Given the description of an element on the screen output the (x, y) to click on. 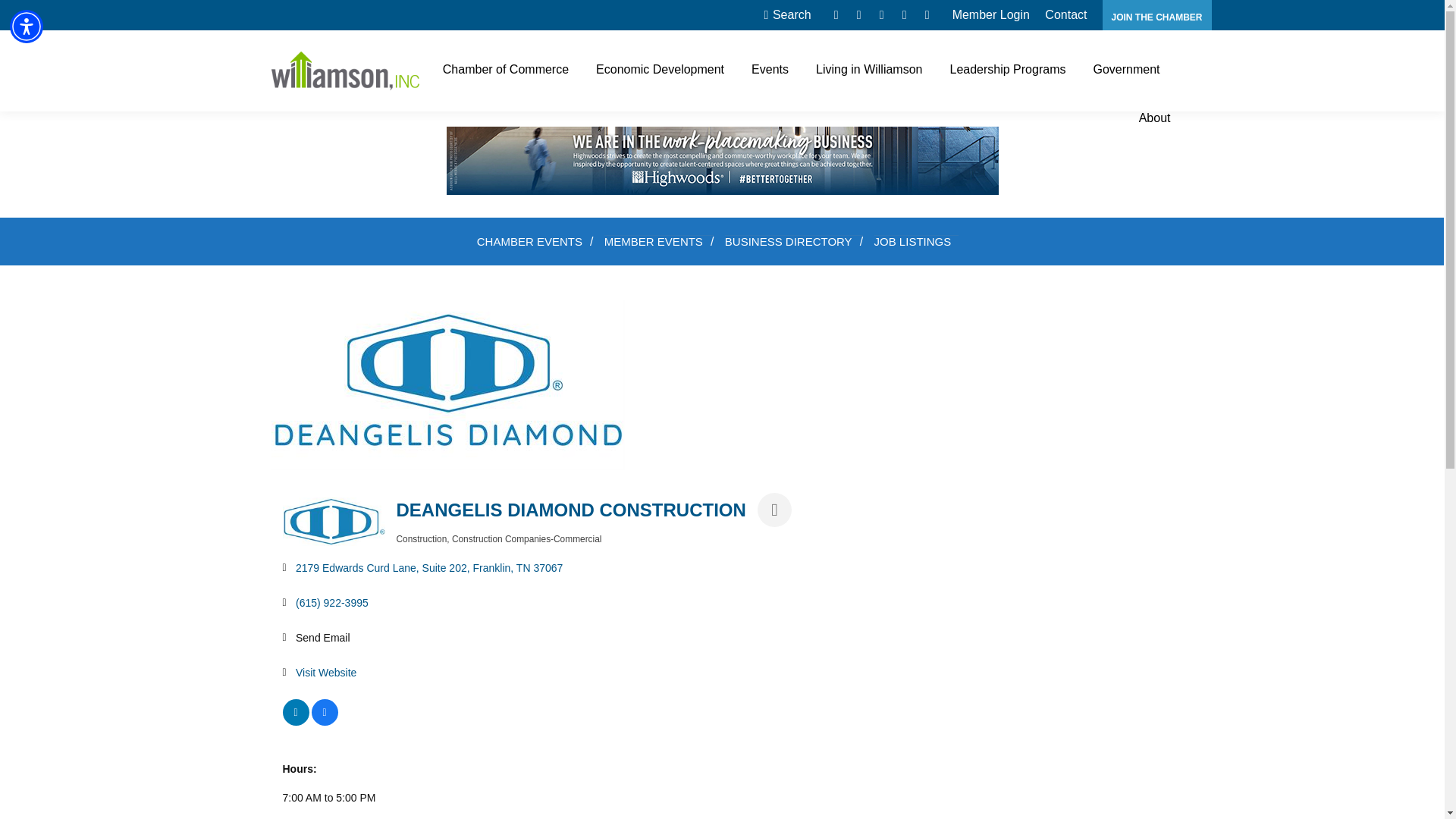
Accessibility Menu (26, 26)
Search (786, 14)
YouTube (904, 14)
Facebook (836, 14)
Living in Williamson (869, 69)
Twitter (858, 14)
Facebook (836, 14)
Member Login (990, 14)
Chamber of Commerce (505, 69)
Events (770, 69)
JOIN THE CHAMBER (1157, 17)
Linkedin (927, 14)
Instagram (881, 14)
Instagram (881, 14)
Linkedin (927, 14)
